Given the description of an element on the screen output the (x, y) to click on. 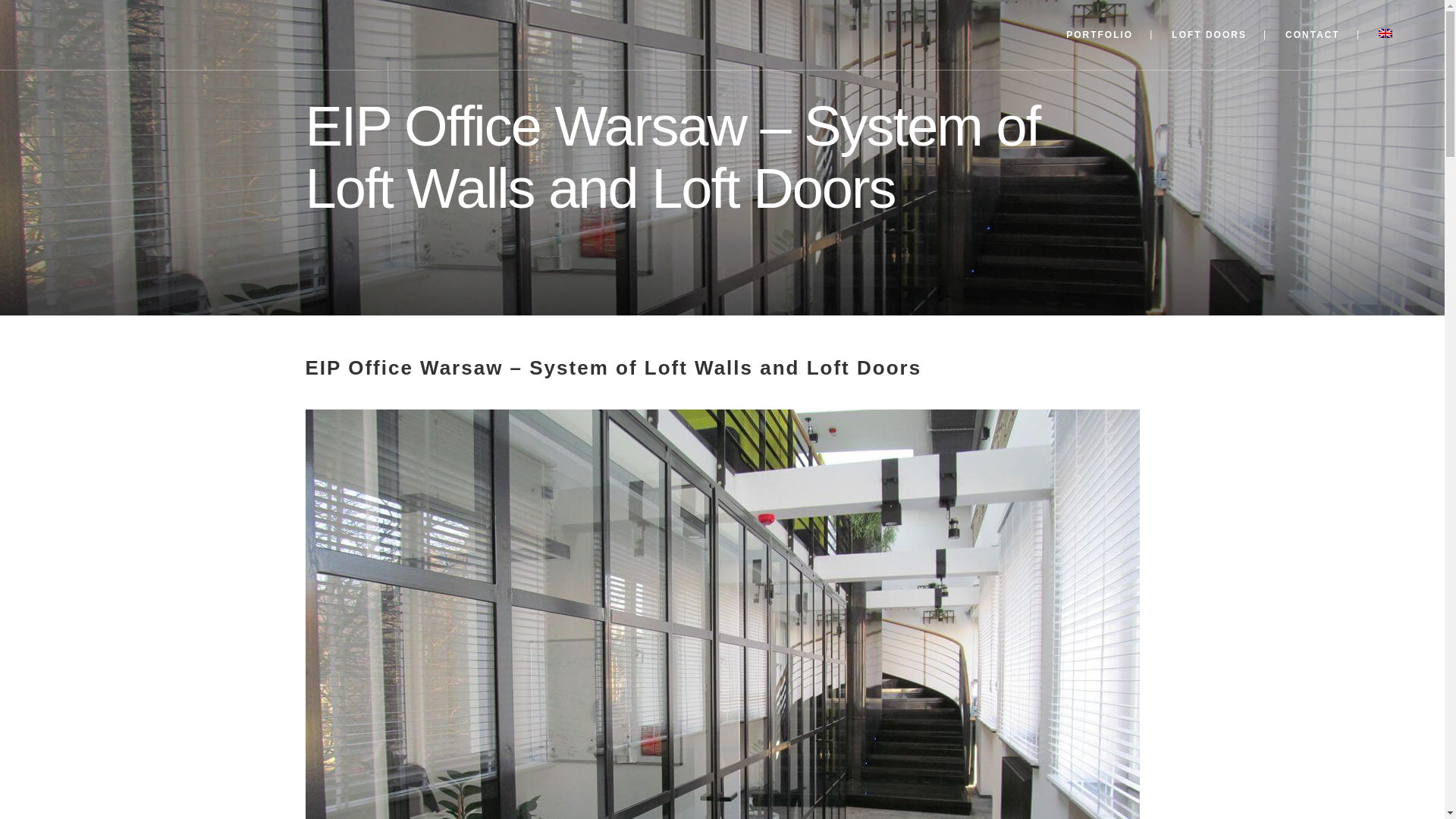
LOFT DOORS (1209, 34)
PORTFOLIO (1099, 34)
CONTACT (1312, 34)
